Given the description of an element on the screen output the (x, y) to click on. 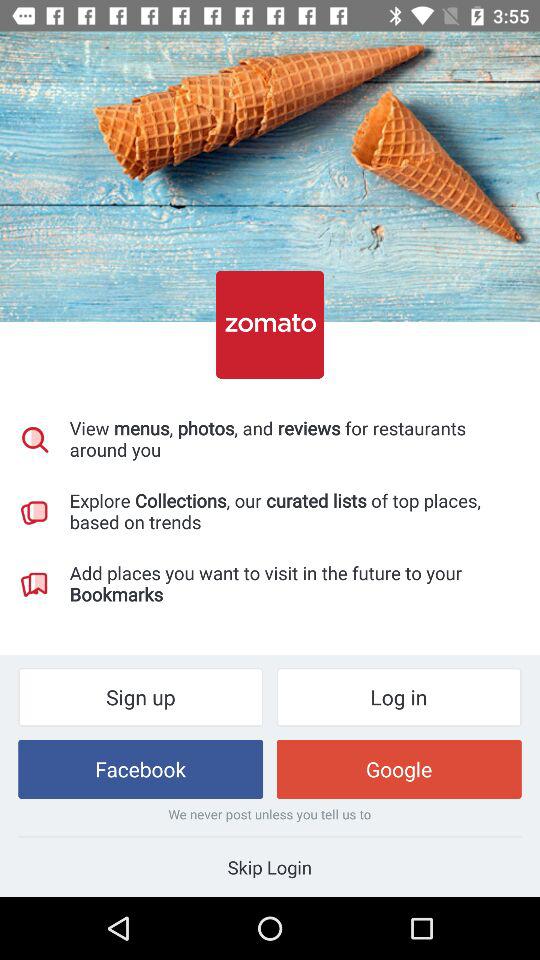
press log in icon (398, 696)
